Given the description of an element on the screen output the (x, y) to click on. 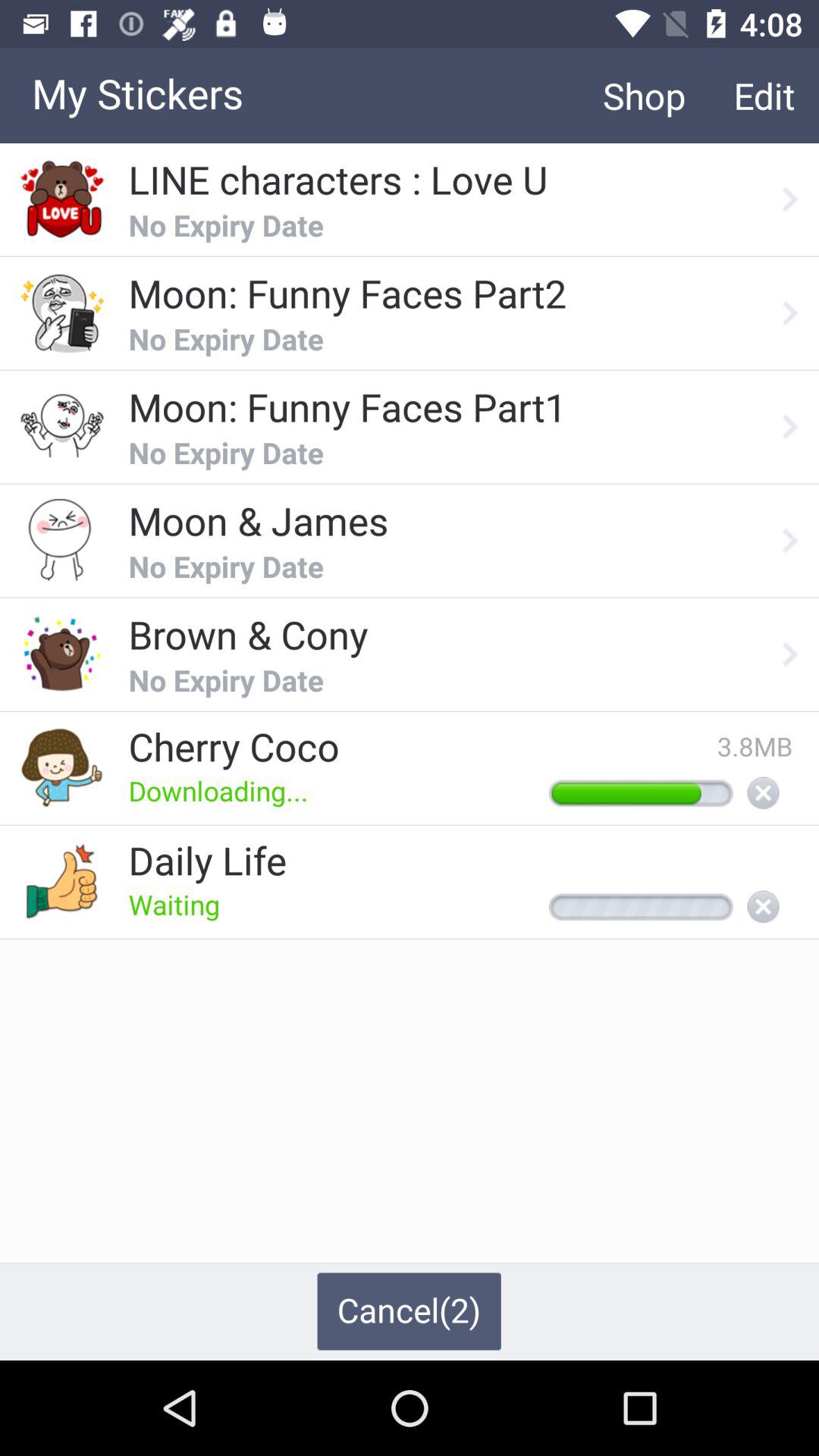
stop download (762, 794)
